Given the description of an element on the screen output the (x, y) to click on. 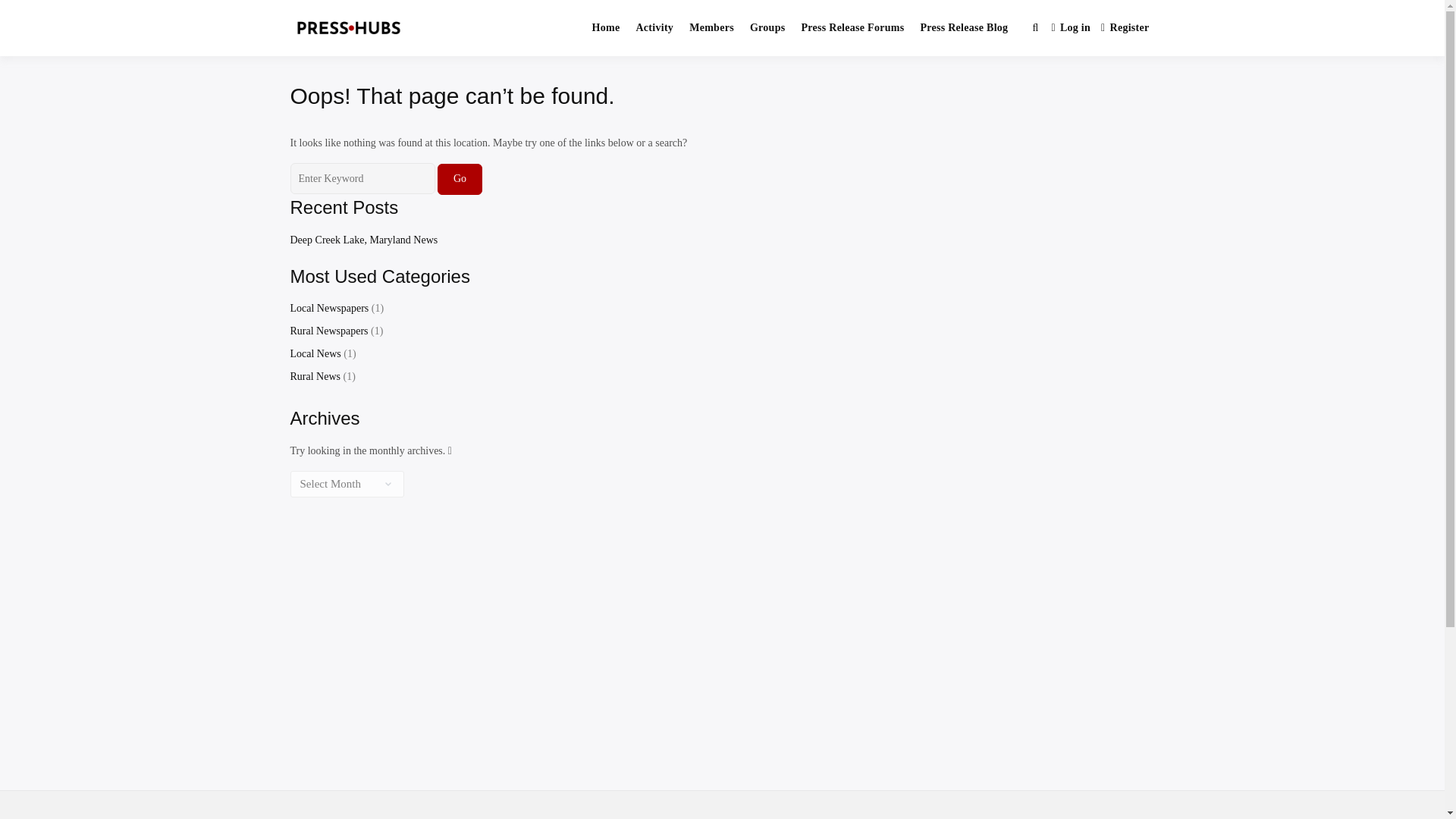
Groups (767, 28)
Register (1125, 28)
Local Newspapers (328, 307)
Rural Newspapers (328, 330)
Press Hubs (486, 44)
Rural News (314, 376)
Go (459, 178)
Local News (314, 353)
Register (1125, 28)
Login (1070, 28)
Members (711, 28)
Go (459, 178)
Press Release Forums (851, 28)
Press Release Blog (963, 28)
Activity (654, 28)
